Given the description of an element on the screen output the (x, y) to click on. 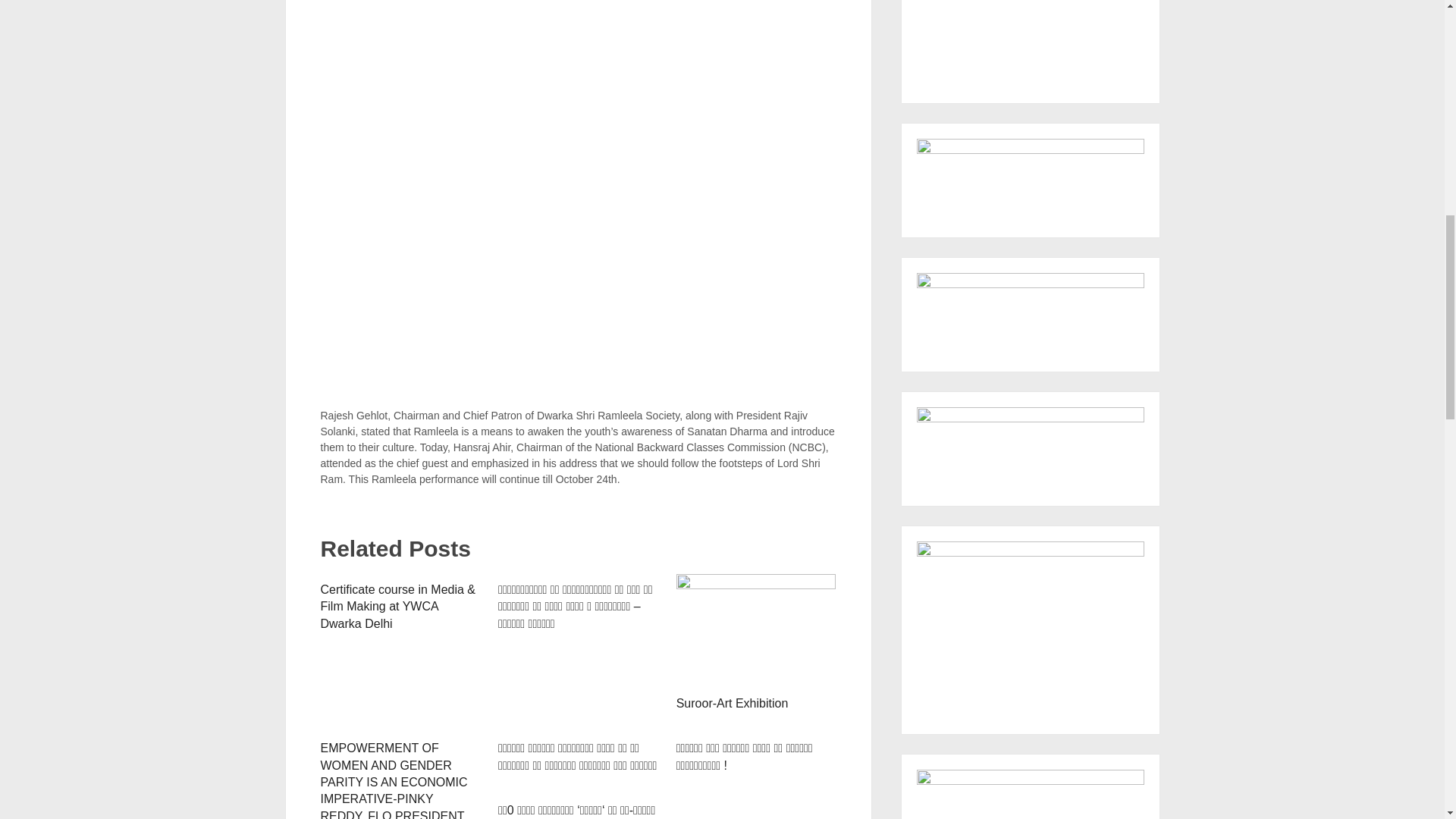
Suroor-Art Exhibition (756, 630)
Suroor-Art Exhibition (733, 703)
Suroor-Art Exhibition (733, 703)
